Given the description of an element on the screen output the (x, y) to click on. 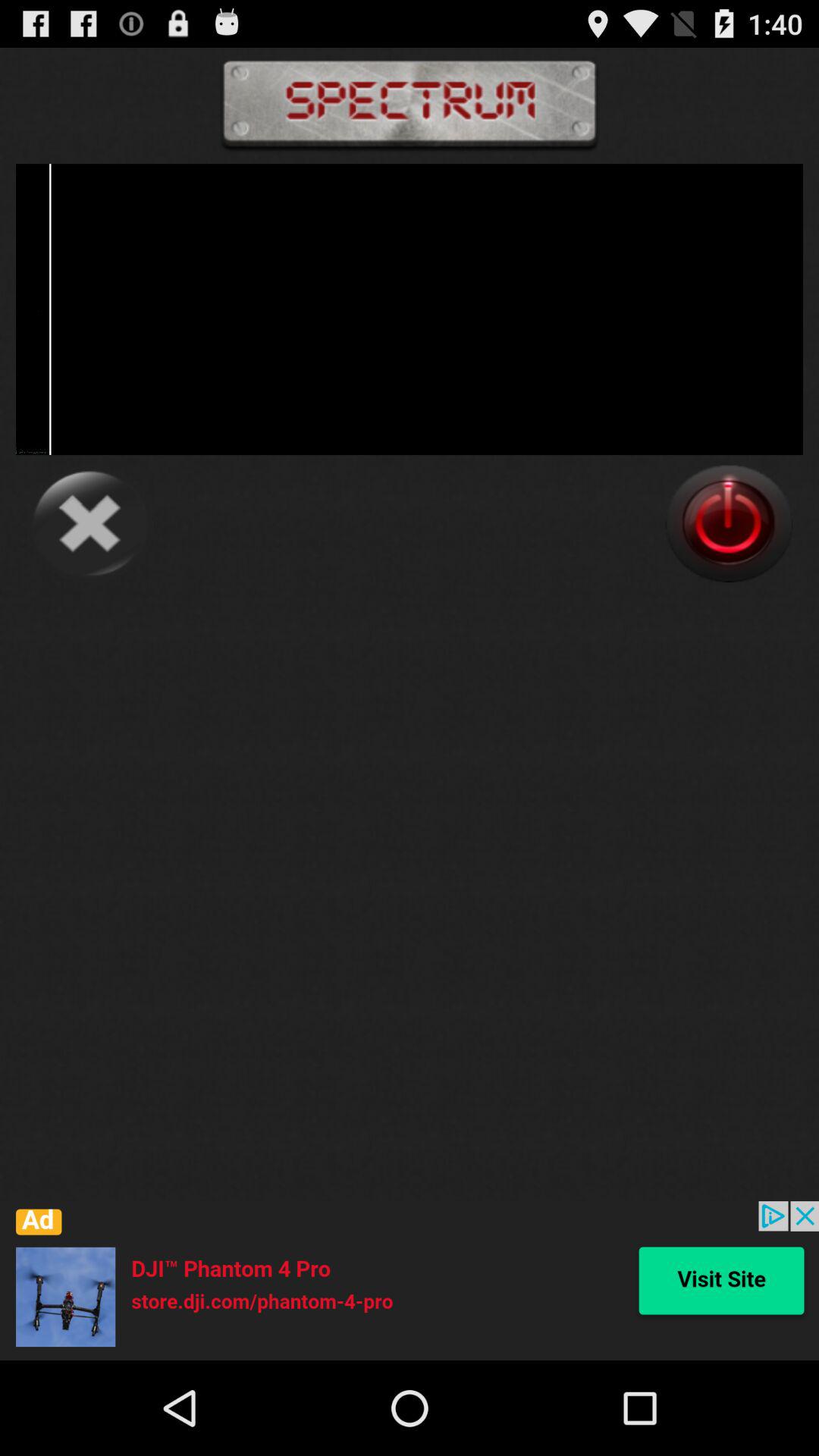
advertisement about drone (409, 1280)
